Given the description of an element on the screen output the (x, y) to click on. 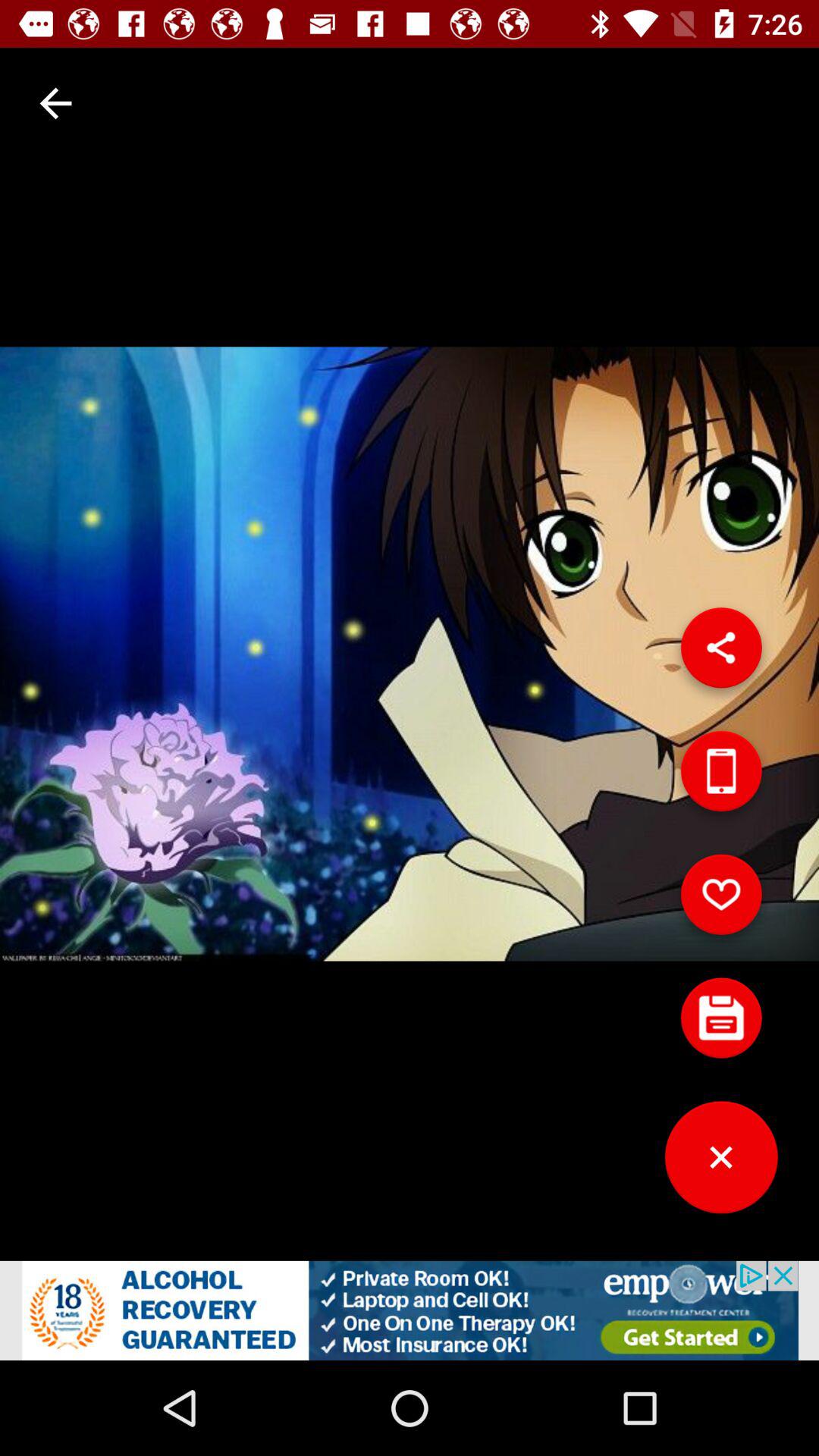
advertisement page (409, 1310)
